Given the description of an element on the screen output the (x, y) to click on. 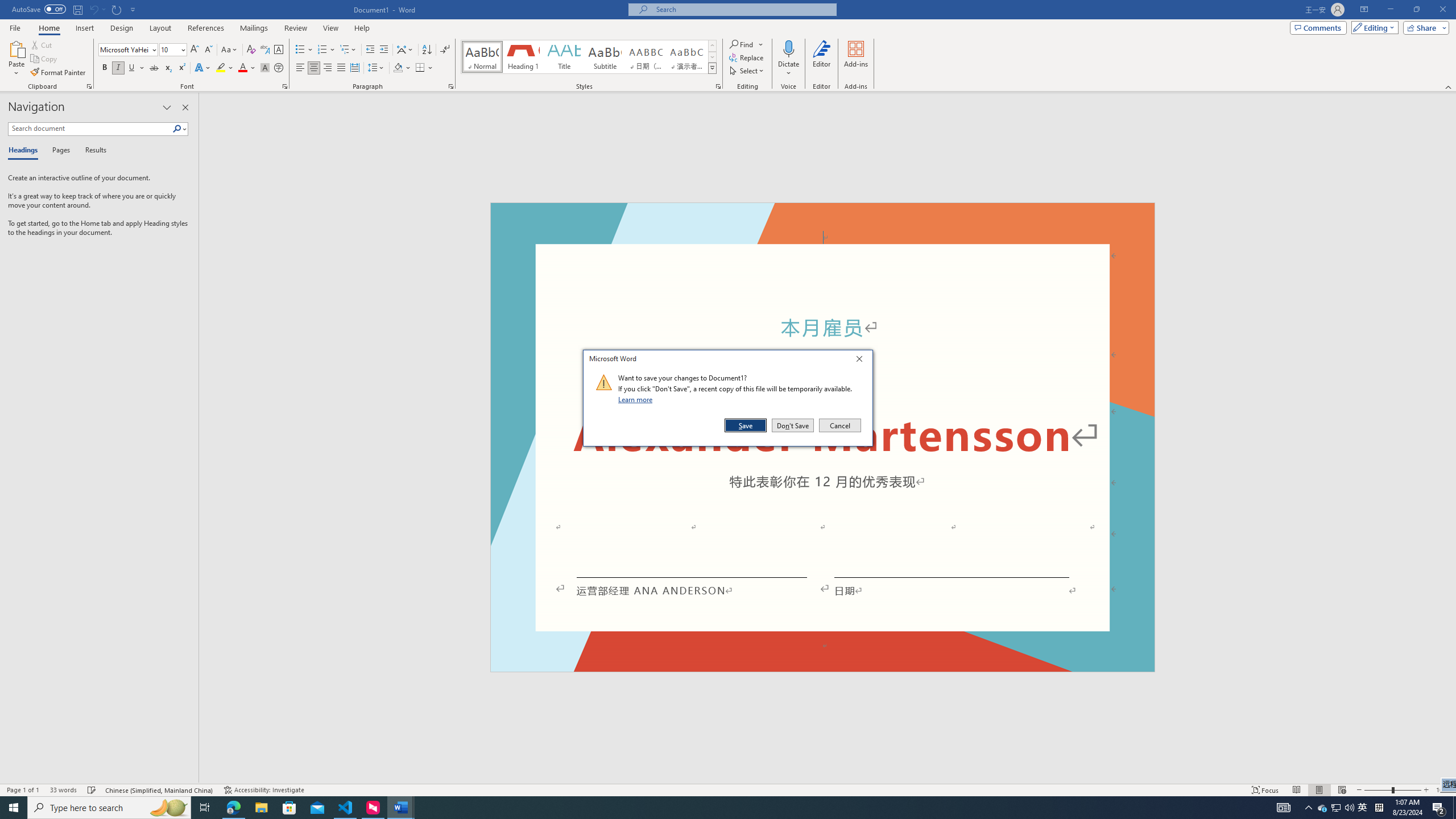
Replace... (747, 56)
Font Color Red (241, 67)
Can't Undo (96, 9)
Title (564, 56)
